Given the description of an element on the screen output the (x, y) to click on. 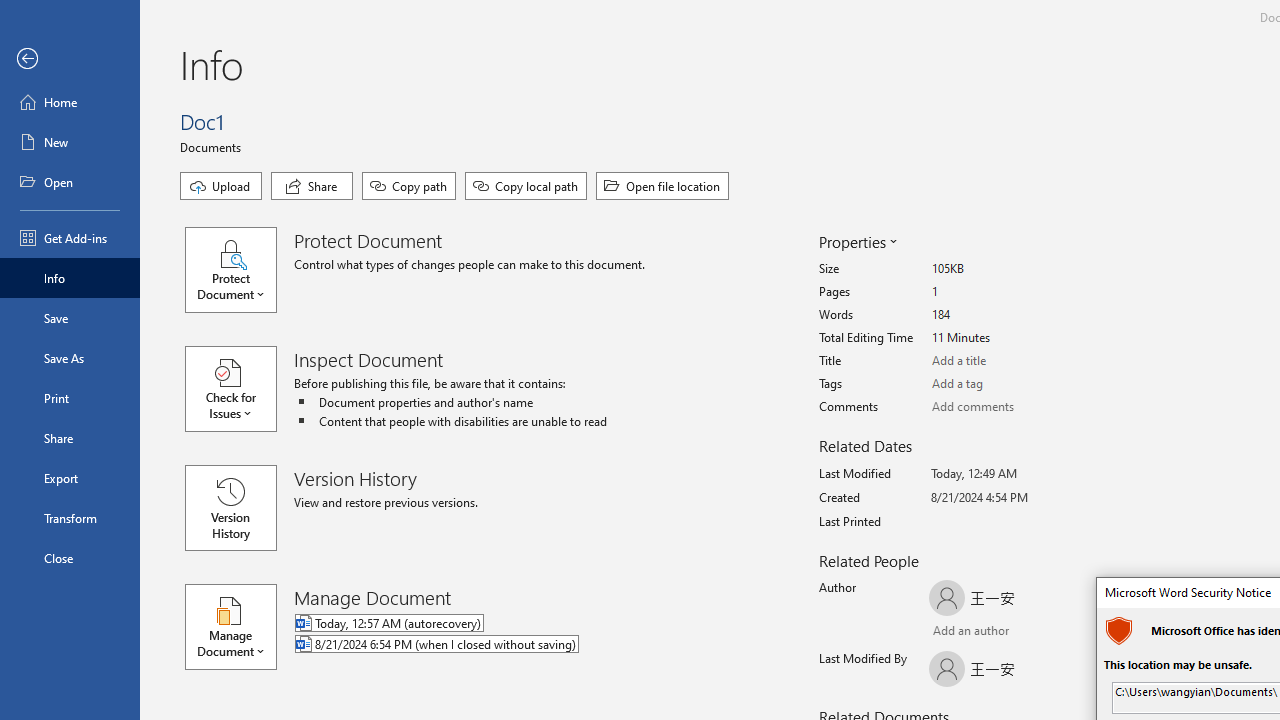
Save As (69, 357)
Manage Document (239, 626)
Get Add-ins (69, 237)
 8/21/2024 6:54 PM (when I closed without saving) (518, 645)
Protect Document (239, 269)
Home (69, 101)
New (69, 141)
Version History (230, 507)
Words (1006, 315)
Share (69, 437)
Check for Issues (239, 389)
